Given the description of an element on the screen output the (x, y) to click on. 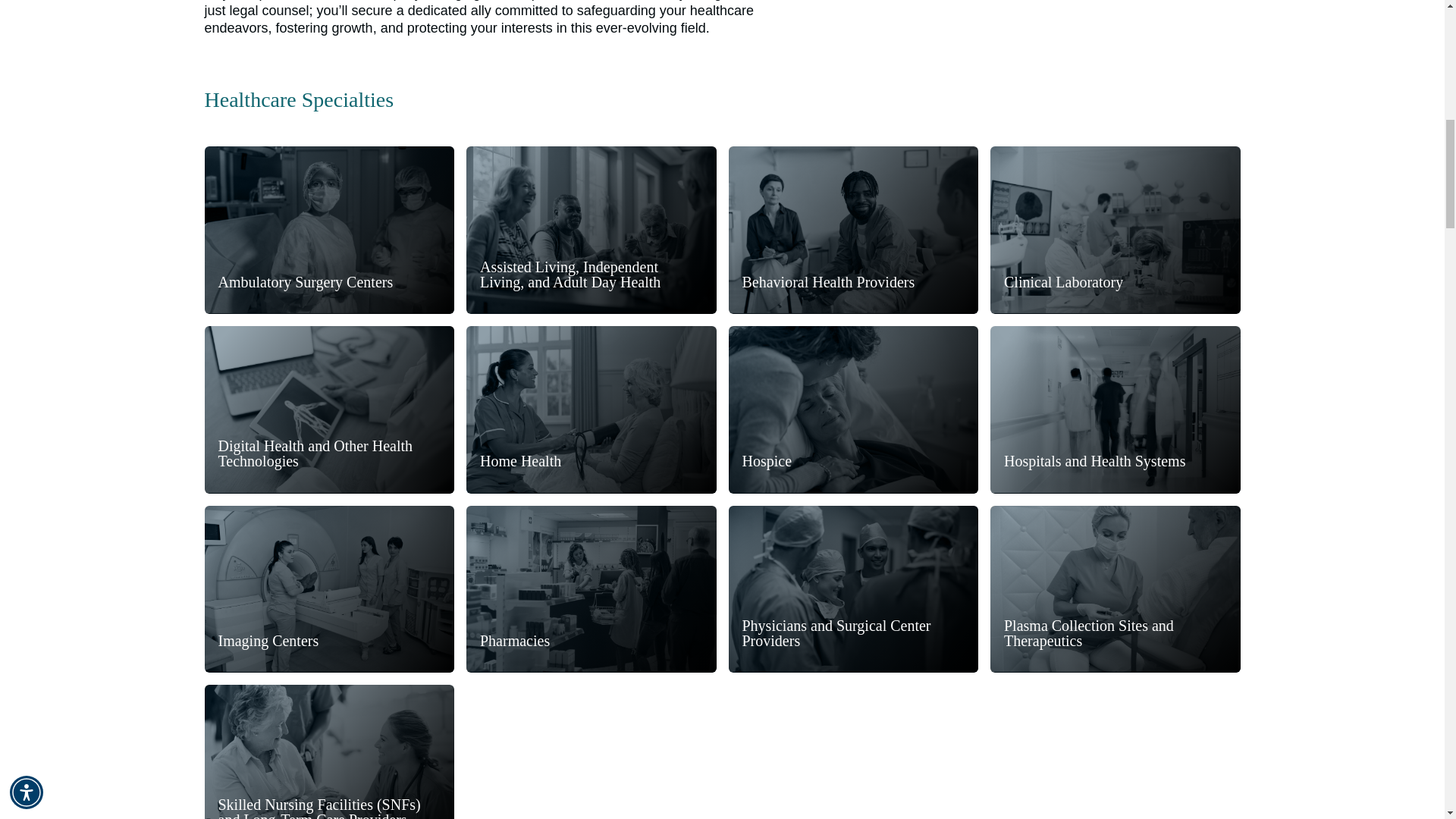
Ambulatory Surgery Centers (329, 229)
Ambulatory Surgery Centers (305, 281)
Behavioral Health Providers (827, 281)
Assisted Living, Independent Living, and Adult Day Health (590, 229)
Clinical Laboratory (1115, 229)
Plasma Collection Sites and Therapeutics (1115, 633)
Hospitals and Health Systems (1094, 460)
Clinical Laboratory (1115, 229)
Digital Health and Other Health Technologies (329, 409)
Assisted Living, Independent Living, and Adult Day Health (590, 229)
Clinical Laboratory (1063, 281)
Ambulatory Surgery Centers (329, 229)
Pharmacies (515, 640)
Assisted Living, Independent Living, and Adult Day Health (591, 274)
Imaging Centers (268, 640)
